Given the description of an element on the screen output the (x, y) to click on. 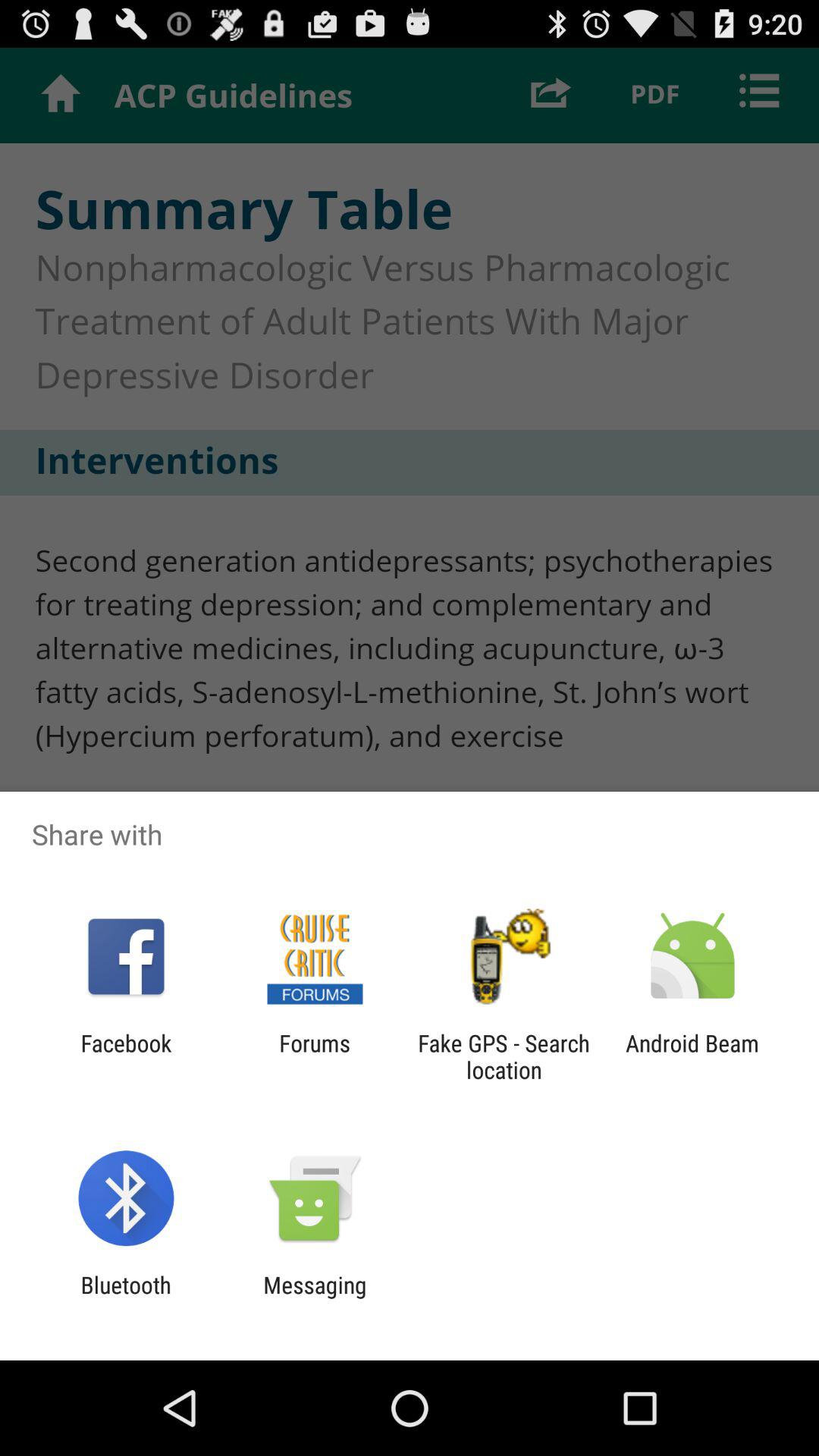
click the icon to the right of the bluetooth (314, 1298)
